Given the description of an element on the screen output the (x, y) to click on. 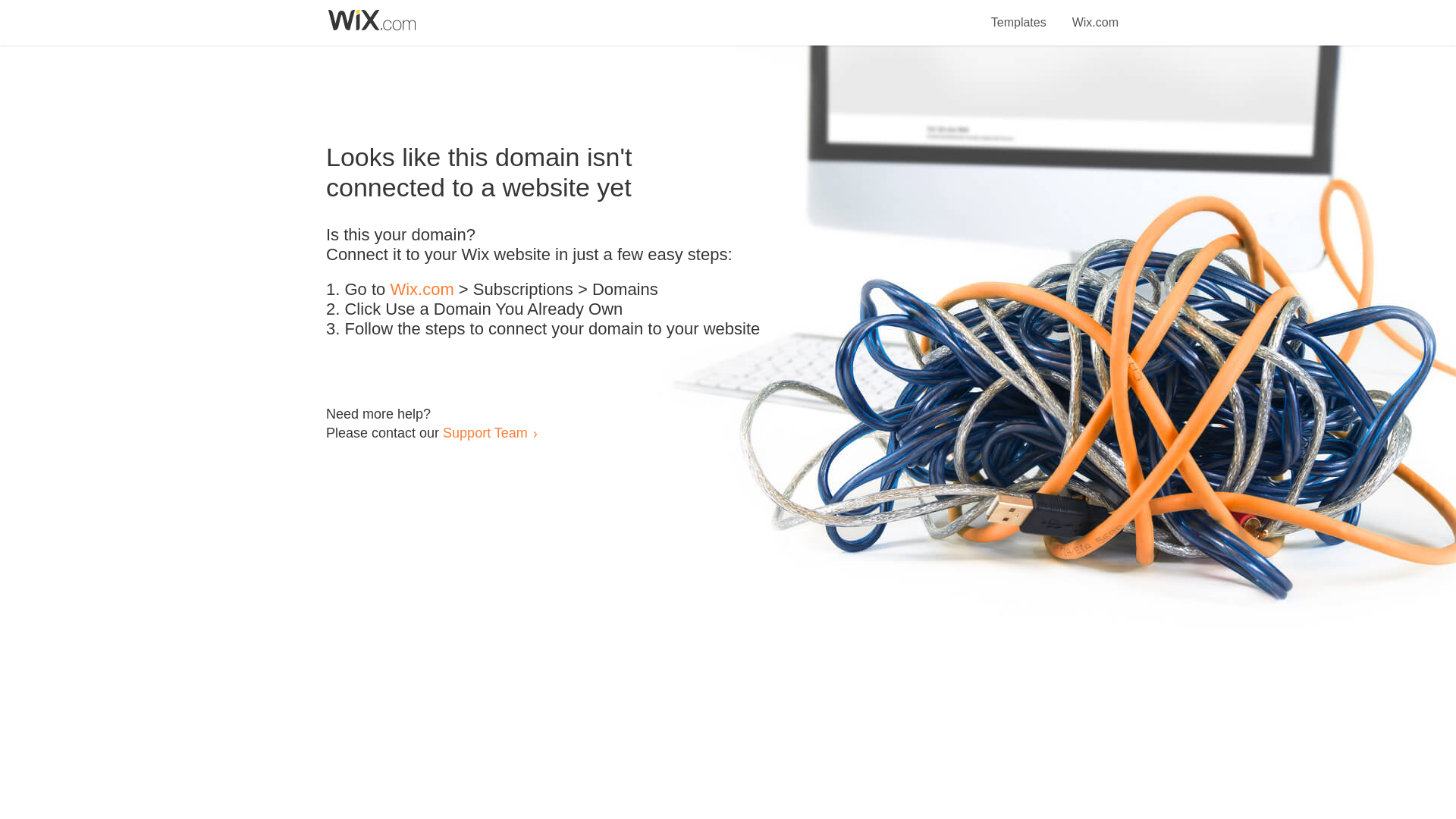
Wix.com (421, 289)
Support Team (484, 432)
Wix.com (1095, 14)
Templates (1018, 14)
